Given the description of an element on the screen output the (x, y) to click on. 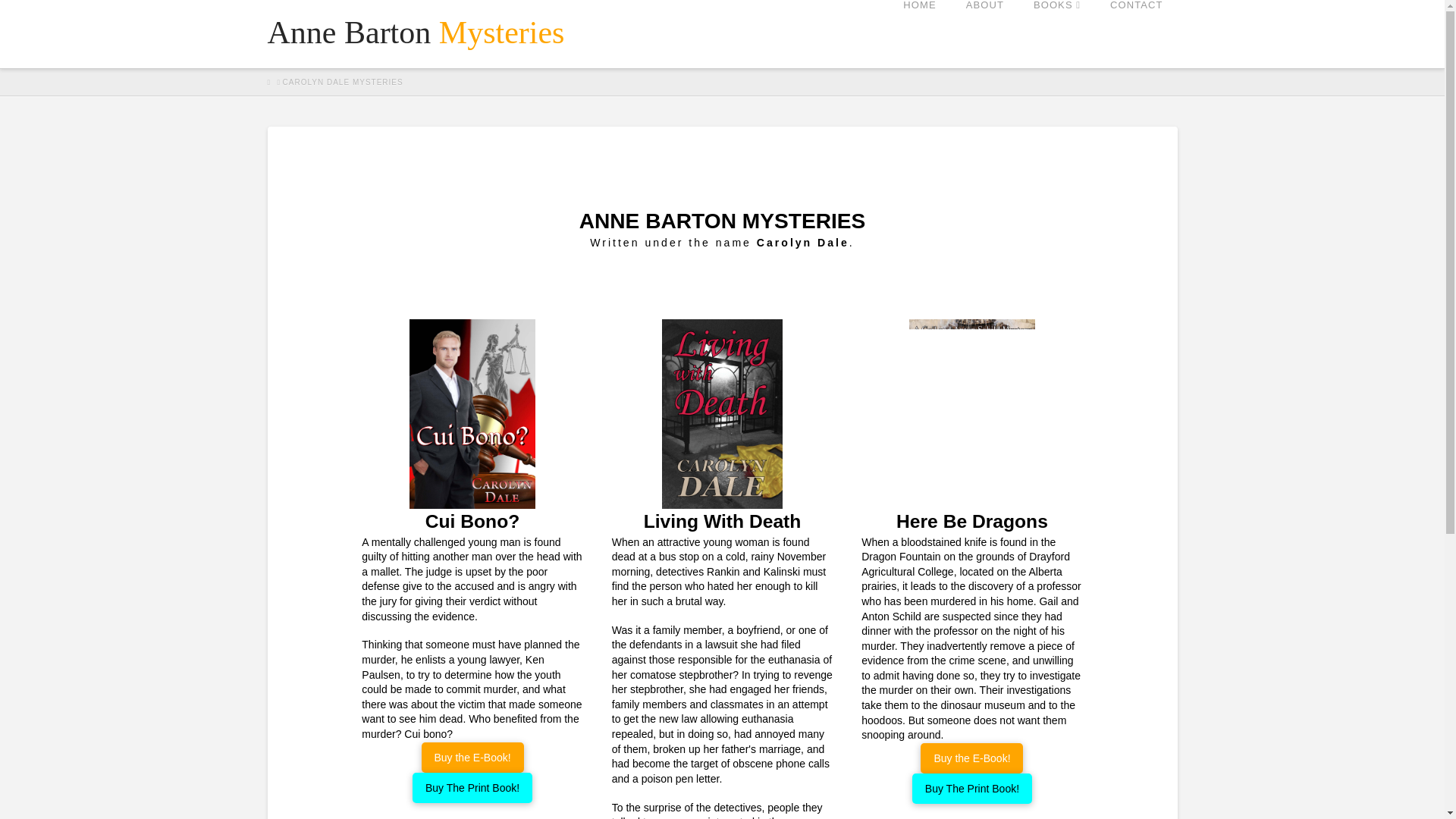
BOOKS (1055, 33)
You Are Here (342, 81)
HOME (919, 33)
ABOUT (983, 33)
CAROLYN DALE MYSTERIES (342, 81)
CONTACT (1135, 33)
Buy the E-Book! (971, 757)
Buy The Print Book! (472, 788)
Anne Barton Mysteries (415, 32)
Buy the E-Book! (473, 757)
